Given the description of an element on the screen output the (x, y) to click on. 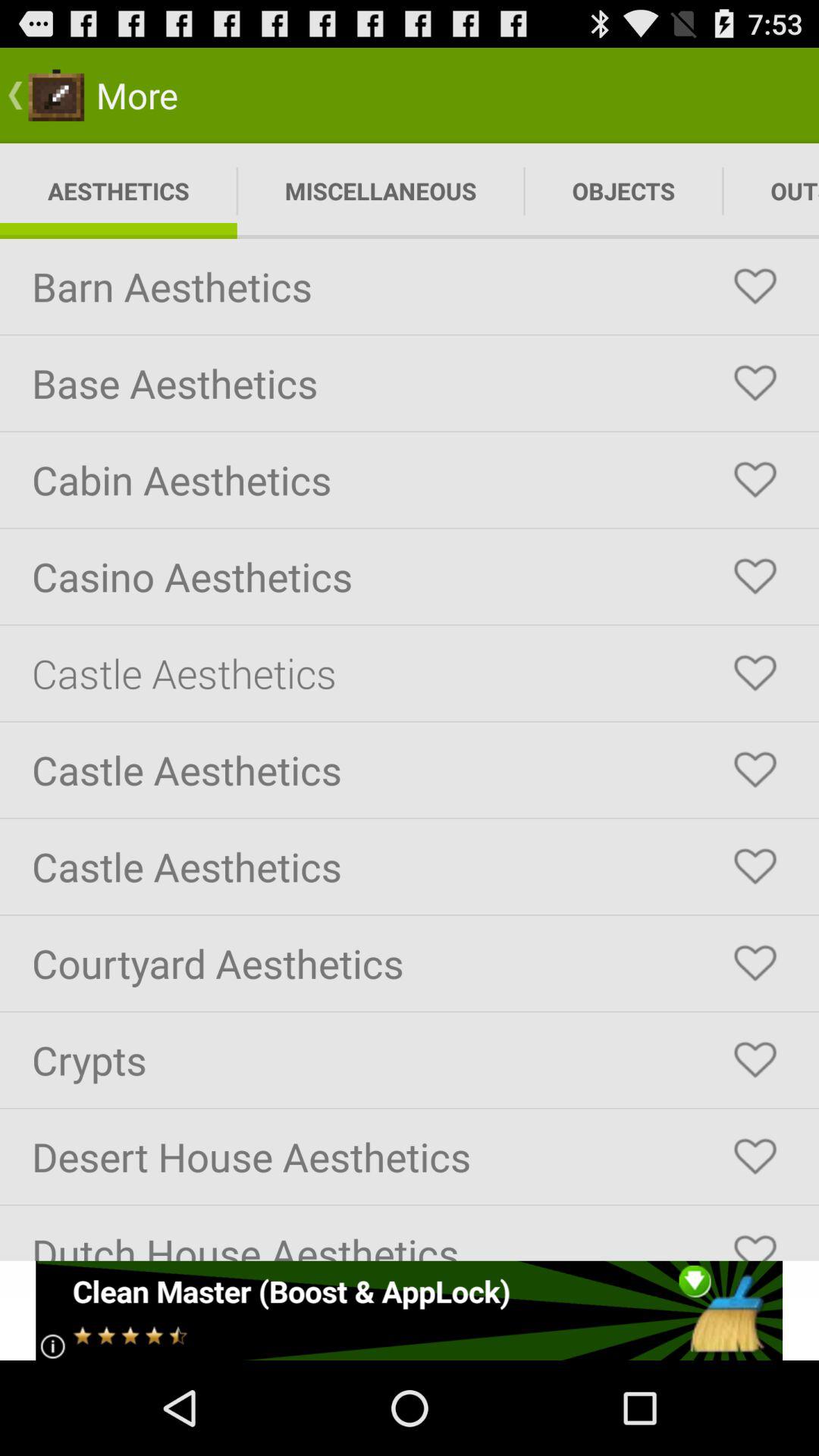
toggle autoplay option (755, 1060)
